Given the description of an element on the screen output the (x, y) to click on. 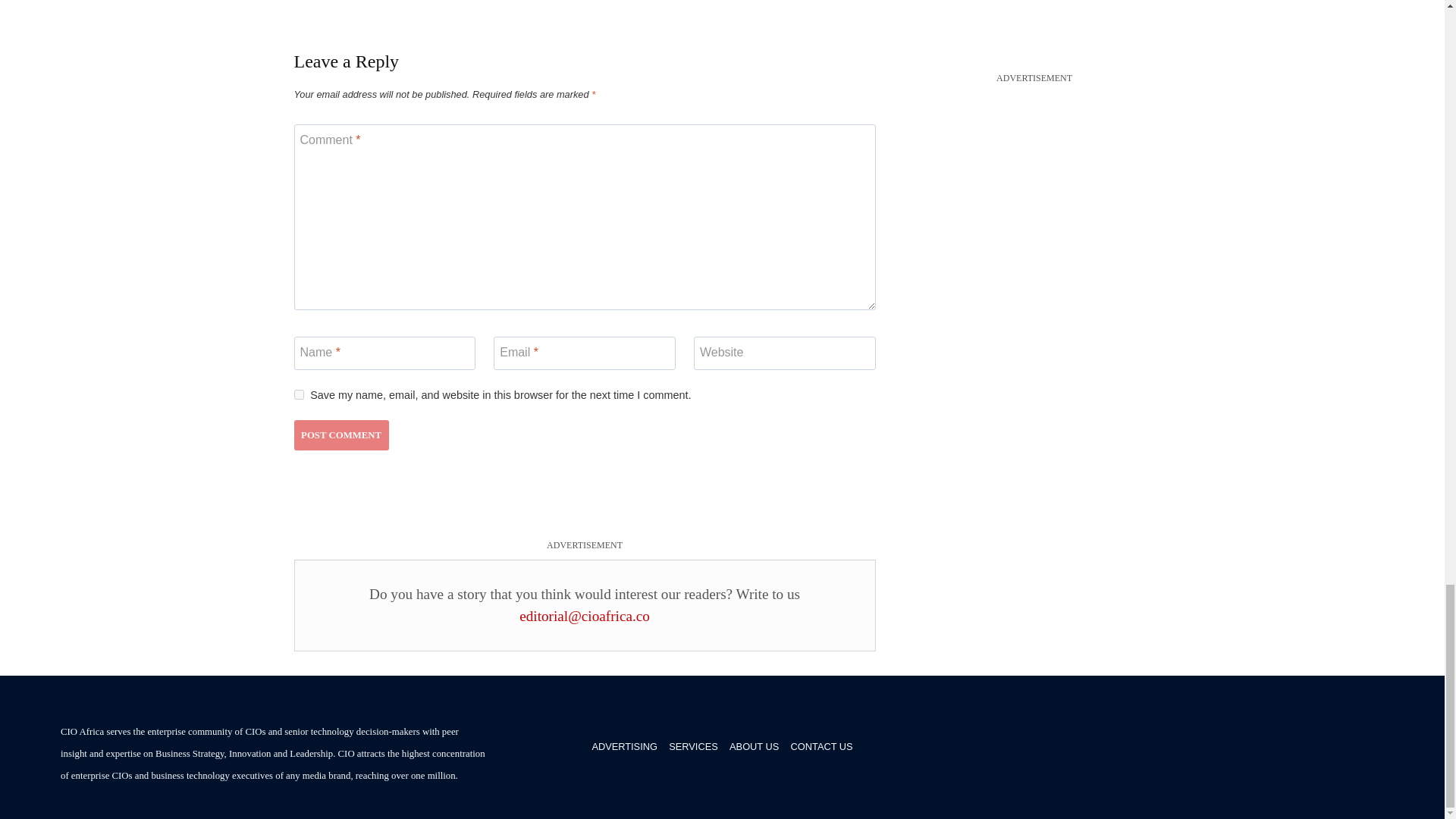
Post Comment (341, 435)
Post Comment (341, 435)
yes (299, 394)
